Given the description of an element on the screen output the (x, y) to click on. 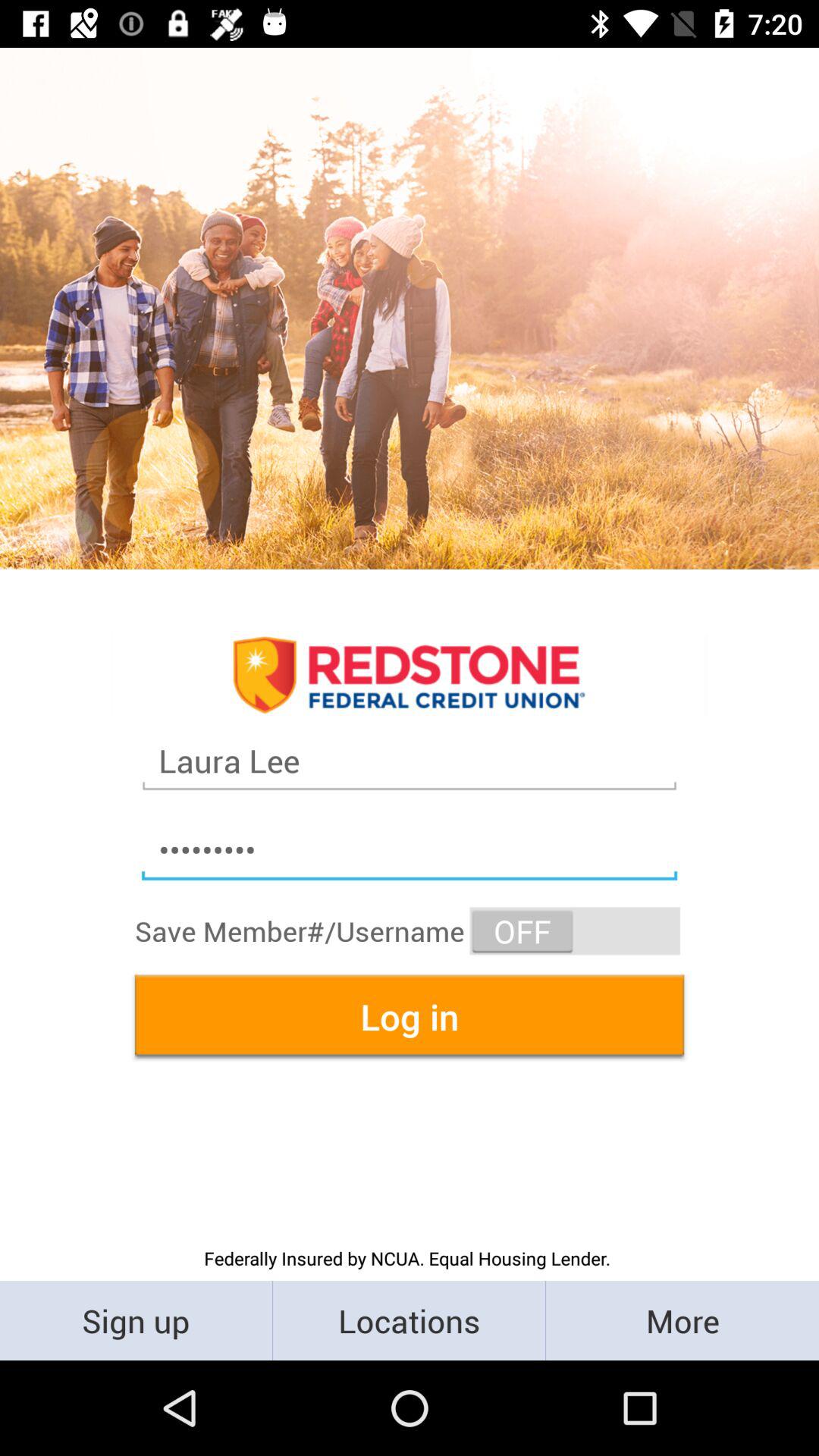
tap item below laura lee icon (409, 850)
